Given the description of an element on the screen output the (x, y) to click on. 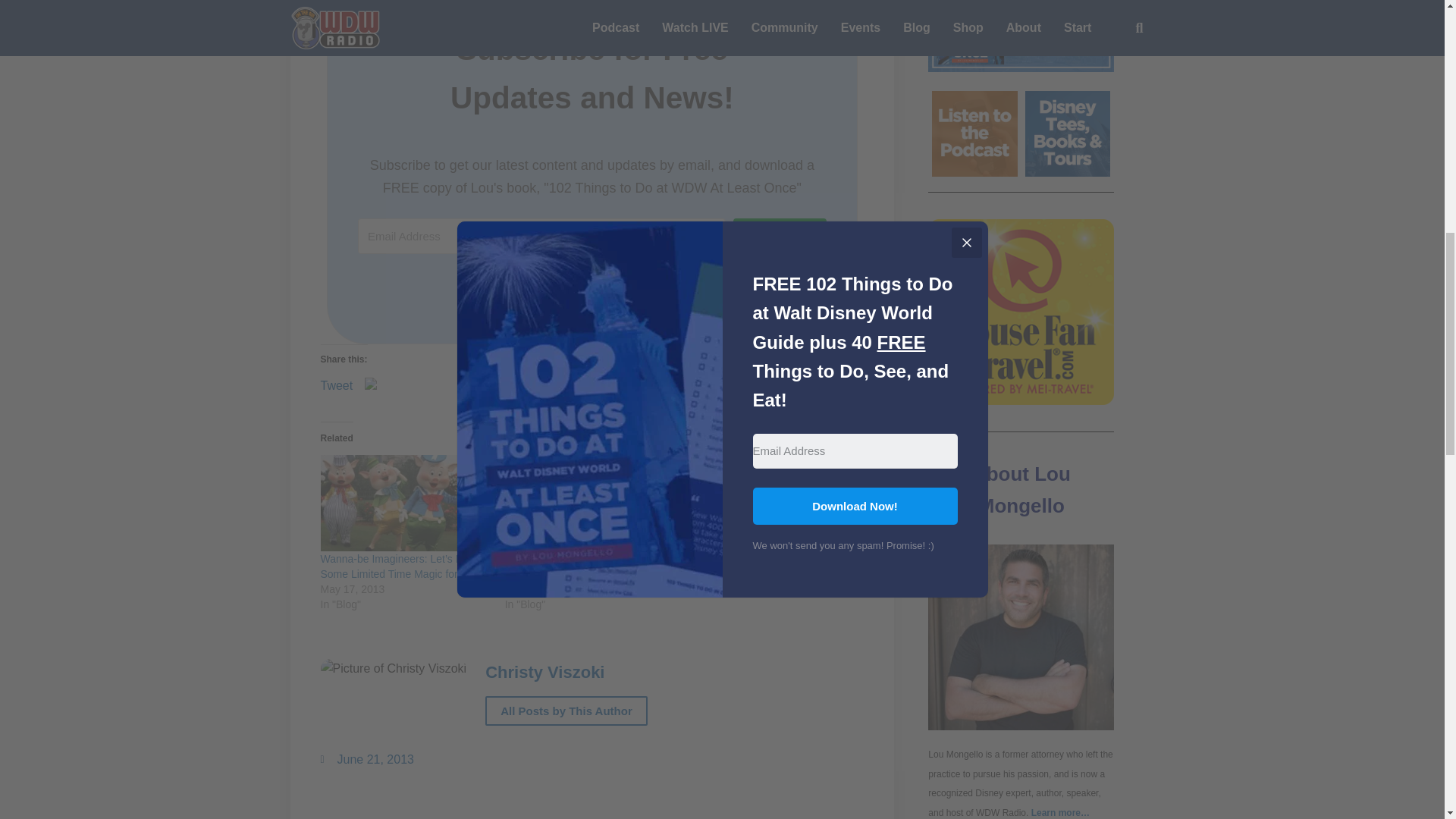
Subscribe (780, 238)
Wanna-be Imagineers: HOP to It!! (773, 503)
Wanna-be Imagineers: HOP to It!! (768, 558)
Tweet (336, 381)
